Given the description of an element on the screen output the (x, y) to click on. 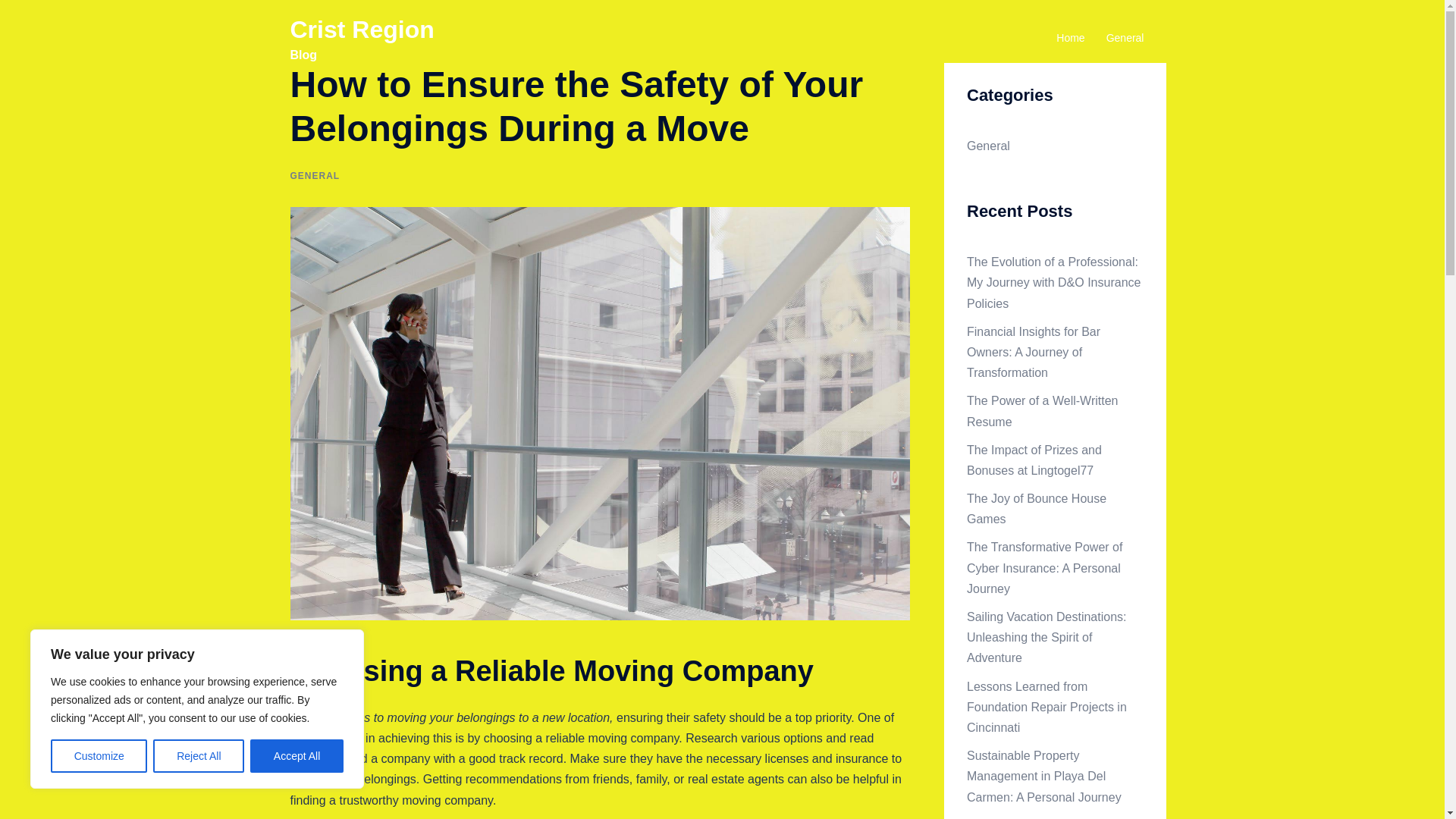
Crist Region (361, 29)
The Joy of Bounce House Games (1036, 508)
Reject All (198, 756)
Home (1070, 38)
General (1125, 38)
Accept All (296, 756)
General (988, 145)
The Impact of Prizes and Bonuses at Lingtogel77 (1034, 459)
